Given the description of an element on the screen output the (x, y) to click on. 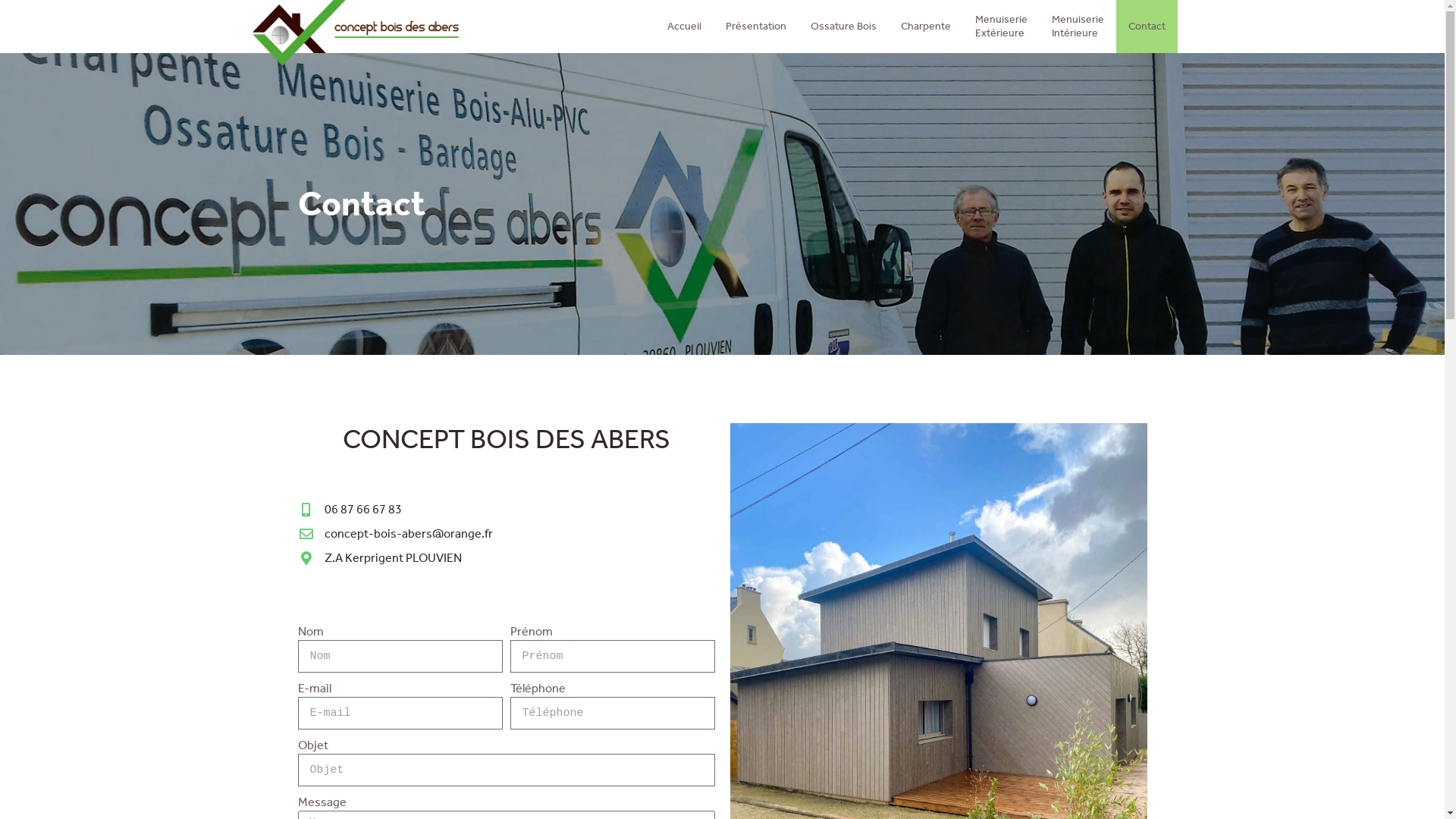
Contact Element type: text (1146, 26)
Ossature Bois Element type: text (842, 26)
Accueil Element type: text (684, 26)
concept-bois-abers@orange.fr Element type: text (505, 533)
06 87 66 67 83 Element type: text (505, 509)
Concept Bois des Abers Element type: hover (369, 32)
Charpente Element type: text (925, 26)
Concept Bois des Abers Element type: hover (354, 32)
